Given the description of an element on the screen output the (x, y) to click on. 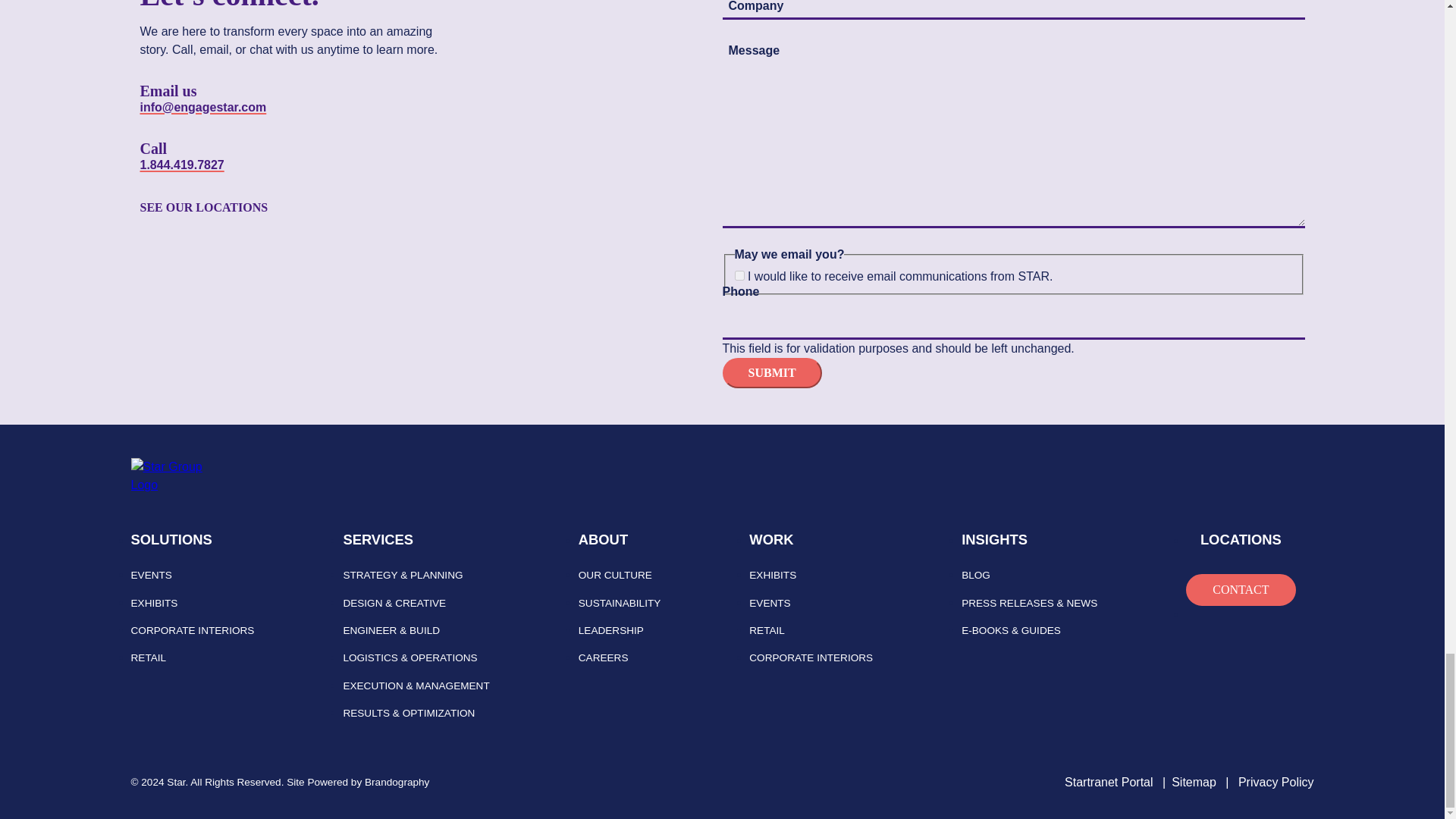
Submit (771, 372)
1 (738, 275)
